Given the description of an element on the screen output the (x, y) to click on. 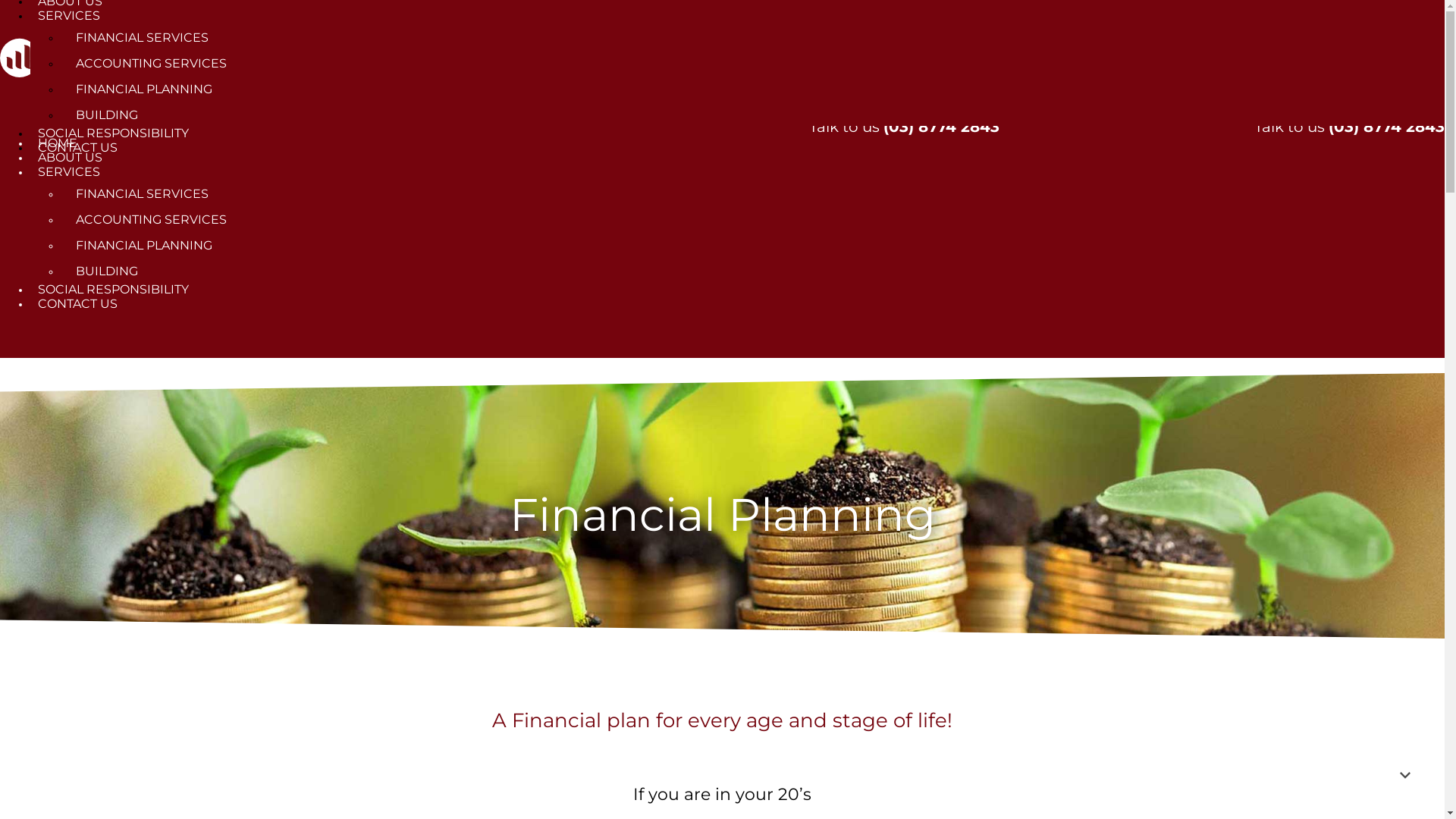
FINANCIAL SERVICES Element type: text (142, 37)
SERVICES Element type: text (68, 15)
CONTACT US Element type: text (77, 303)
SOCIAL RESPONSIBILITY Element type: text (113, 289)
FINANCIAL PLANNING Element type: text (143, 88)
FINANCIAL PLANNING Element type: text (143, 245)
HOME Element type: text (57, 142)
ACCOUNTING SERVICES Element type: text (151, 63)
BUILDING Element type: text (106, 270)
SERVICES Element type: text (68, 171)
SOCIAL RESPONSIBILITY Element type: text (113, 132)
ACCOUNTING SERVICES Element type: text (151, 219)
CONTACT US Element type: text (77, 147)
FINANCIAL SERVICES Element type: text (142, 193)
ABOUT US Element type: text (69, 157)
BUILDING Element type: text (106, 114)
